Given the description of an element on the screen output the (x, y) to click on. 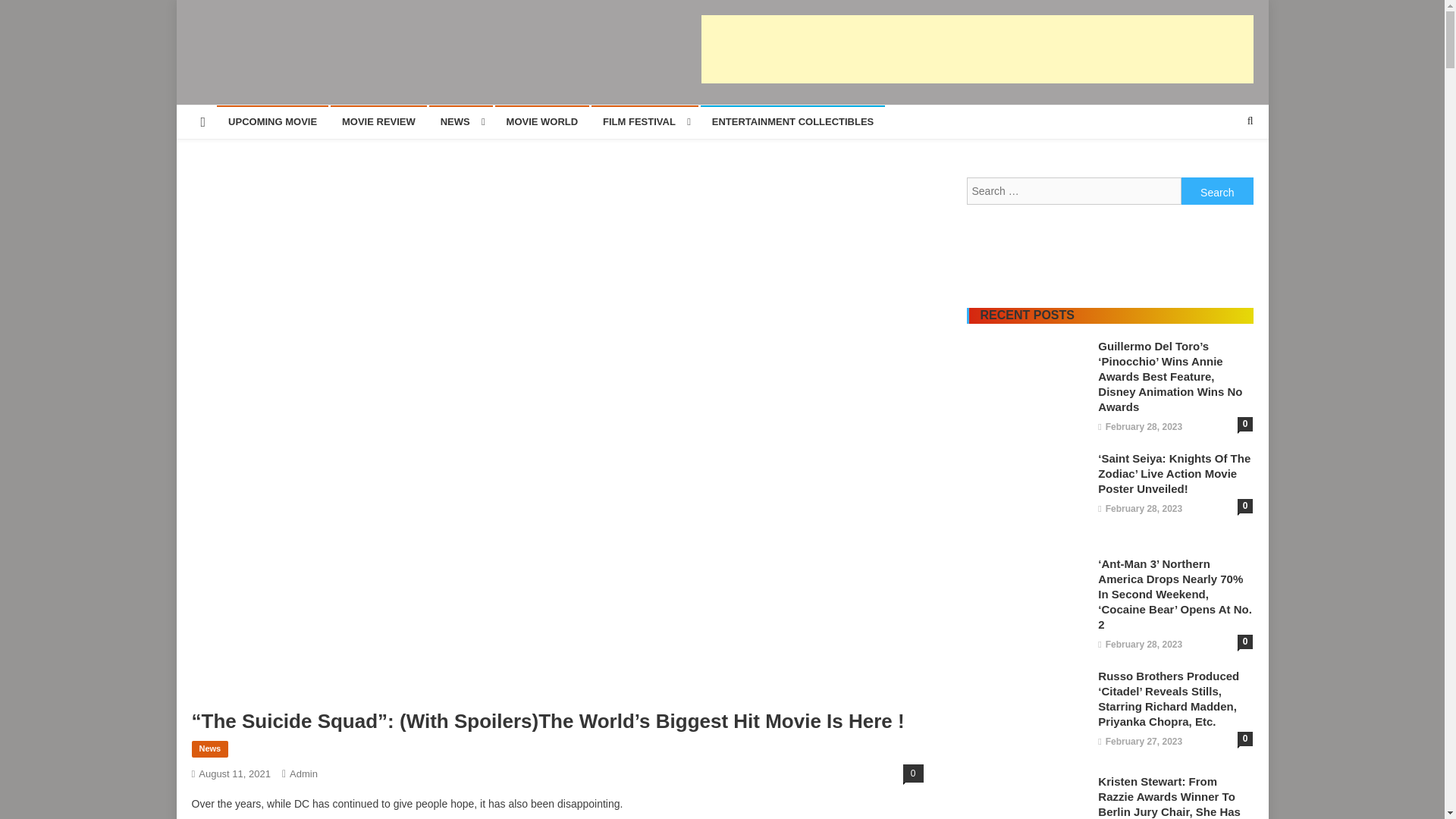
Search (1221, 171)
FMV6 (223, 79)
News (209, 749)
NEWS (461, 121)
August 11, 2021 (234, 773)
MOVIE REVIEW (378, 121)
UPCOMING MOVIE (272, 121)
Search (1216, 190)
Admin (303, 773)
FILM FESTIVAL (644, 121)
Search (1216, 190)
MOVIE WORLD (542, 121)
ENTERTAINMENT COLLECTIBLES (792, 121)
0 (912, 773)
